Given the description of an element on the screen output the (x, y) to click on. 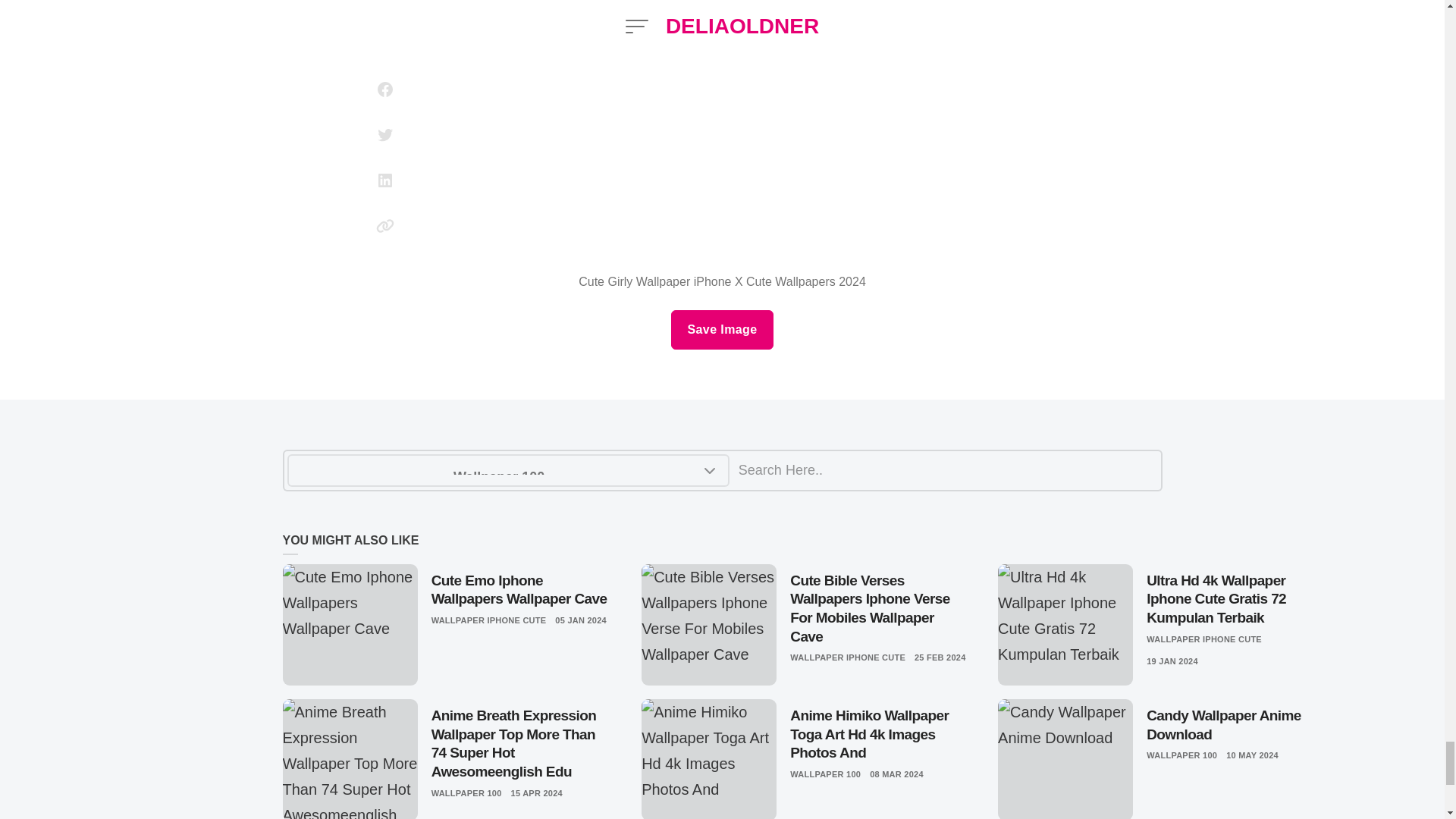
WALLPAPER IPHONE CUTE (489, 620)
WALLPAPER 100 (825, 774)
WALLPAPER IPHONE CUTE (847, 657)
Cute Emo Iphone Wallpapers Wallpaper Cave (520, 590)
Anime Himiko Wallpaper Toga Art Hd 4k Images Photos And (879, 734)
Candy Wallpaper Anime Download (1233, 724)
Ultra Hd 4k Wallpaper Iphone Cute Gratis 72 Kumpulan Terbaik (1233, 599)
WALLPAPER 100 (466, 793)
WALLPAPER IPHONE CUTE (1204, 639)
